Given the description of an element on the screen output the (x, y) to click on. 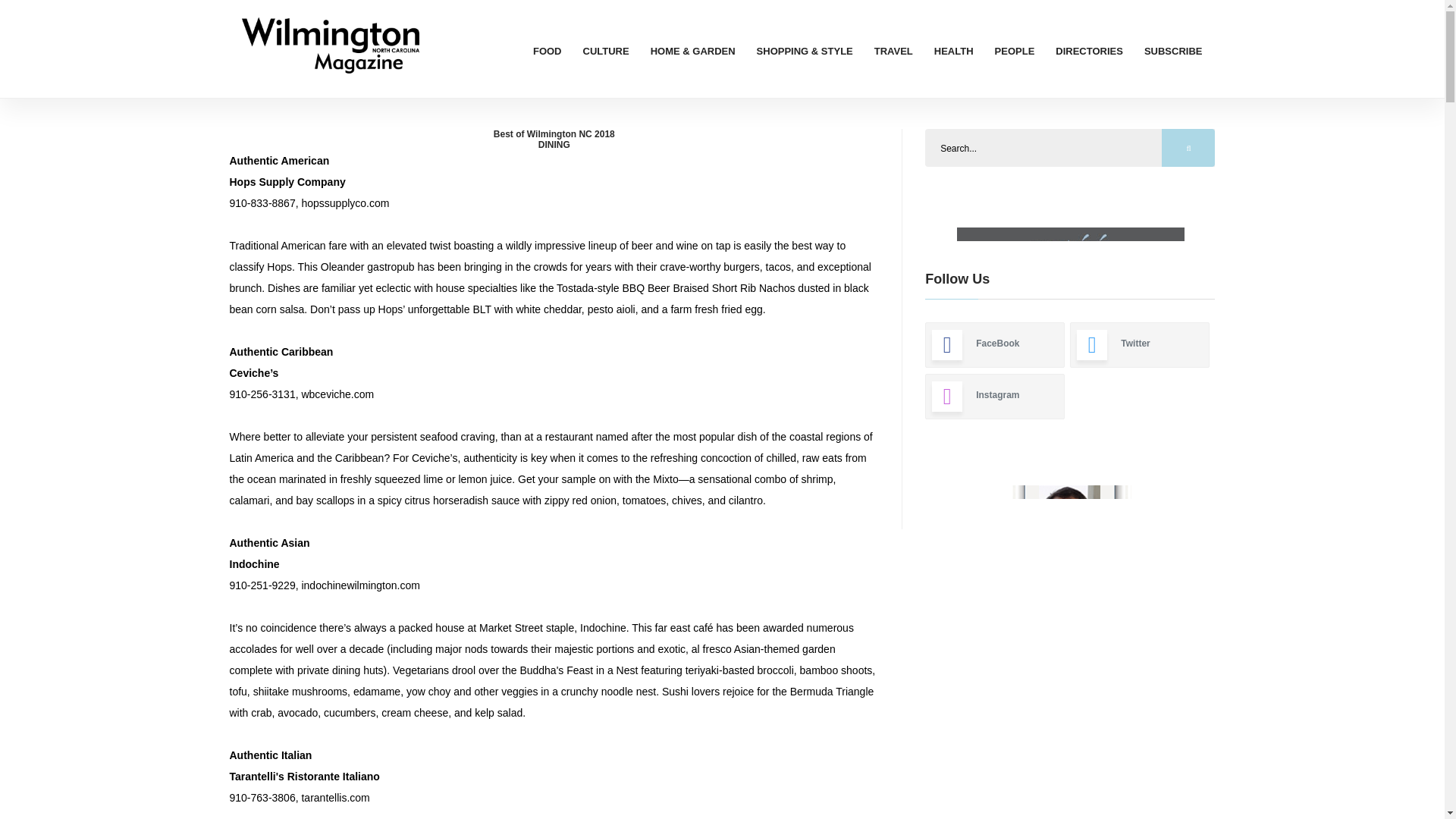
FOOD (547, 50)
DIRECTORIES (1088, 50)
Instagram (994, 396)
CULTURE (606, 50)
PEOPLE (1015, 50)
Twitter (1139, 344)
FaceBook (994, 344)
TRAVEL (893, 50)
HEALTH (953, 50)
SUBSCRIBE (1173, 50)
